Given the description of an element on the screen output the (x, y) to click on. 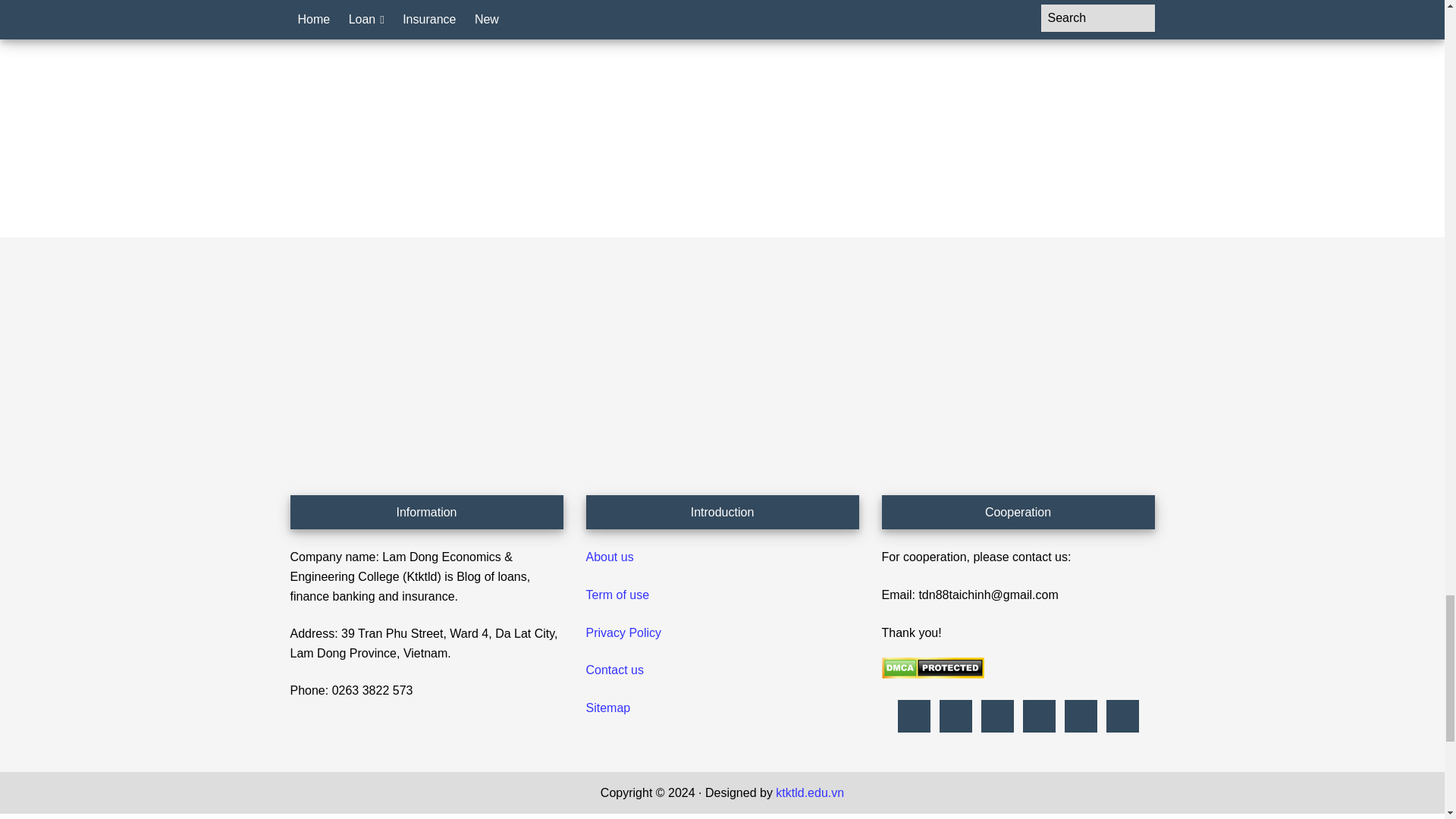
Tumblr (1038, 715)
DMCA.com Protection Status (932, 674)
YouTube (1123, 715)
Reddit (996, 715)
Pinterest (955, 715)
Flickr (913, 715)
Twitter (1079, 715)
